Given the description of an element on the screen output the (x, y) to click on. 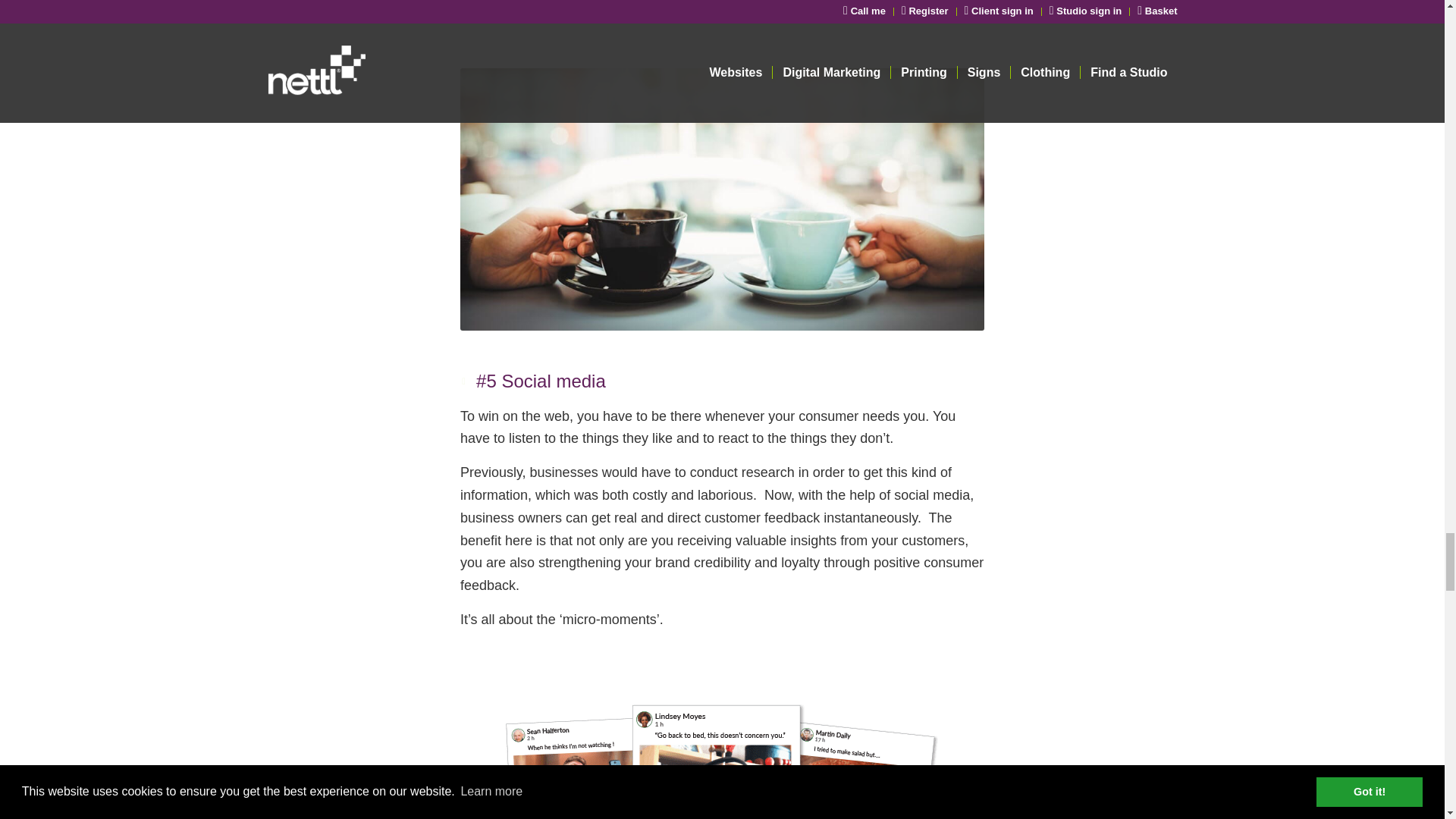
Social Pics (722, 749)
